Given the description of an element on the screen output the (x, y) to click on. 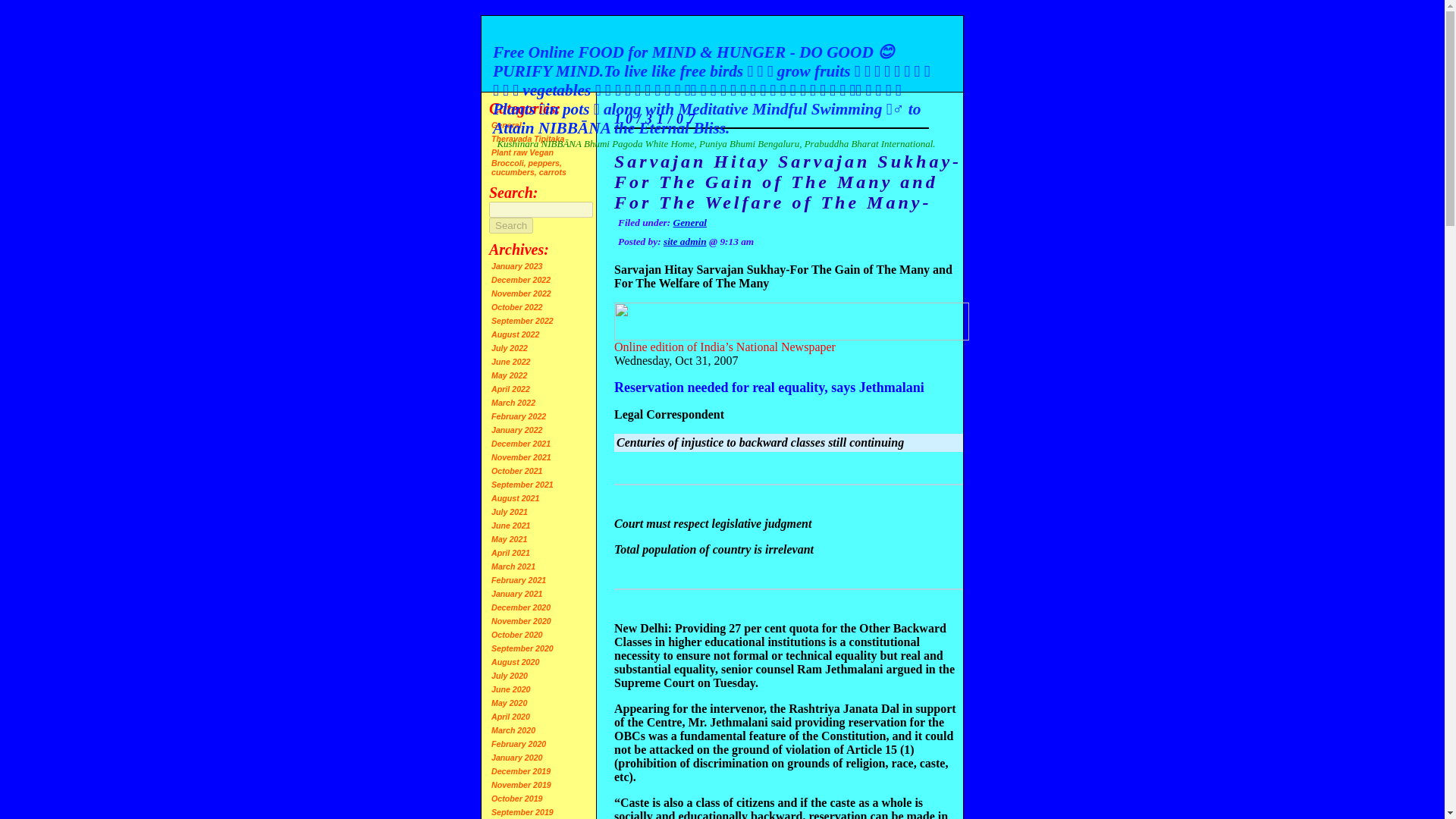
April 2022 (510, 388)
January 2023 (517, 266)
September 2021 (522, 483)
April 2020 (510, 716)
June 2020 (511, 688)
March 2021 (513, 565)
October 2022 (517, 307)
Plant raw Vegan Broccoli, peppers, cucumbers, carrots (529, 162)
January 2023 (517, 266)
April 2022 (510, 388)
